Given the description of an element on the screen output the (x, y) to click on. 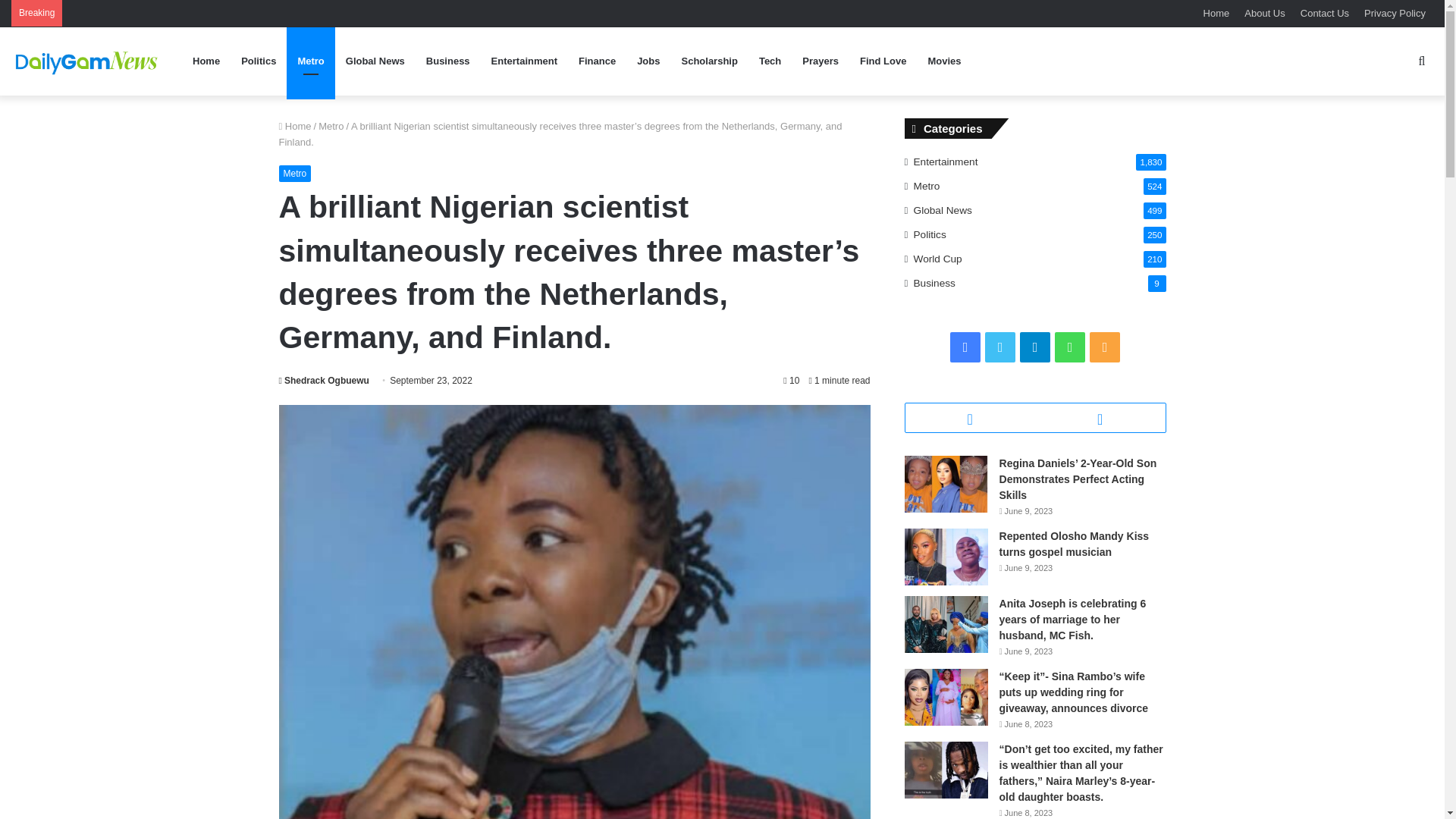
Metro (295, 173)
Shedrack Ogbuewu (324, 380)
Business (447, 61)
Shedrack Ogbuewu (324, 380)
Home (1216, 13)
Scholarship (708, 61)
Home (295, 125)
Privacy Policy (1394, 13)
Global News (374, 61)
Find Love (882, 61)
